Given the description of an element on the screen output the (x, y) to click on. 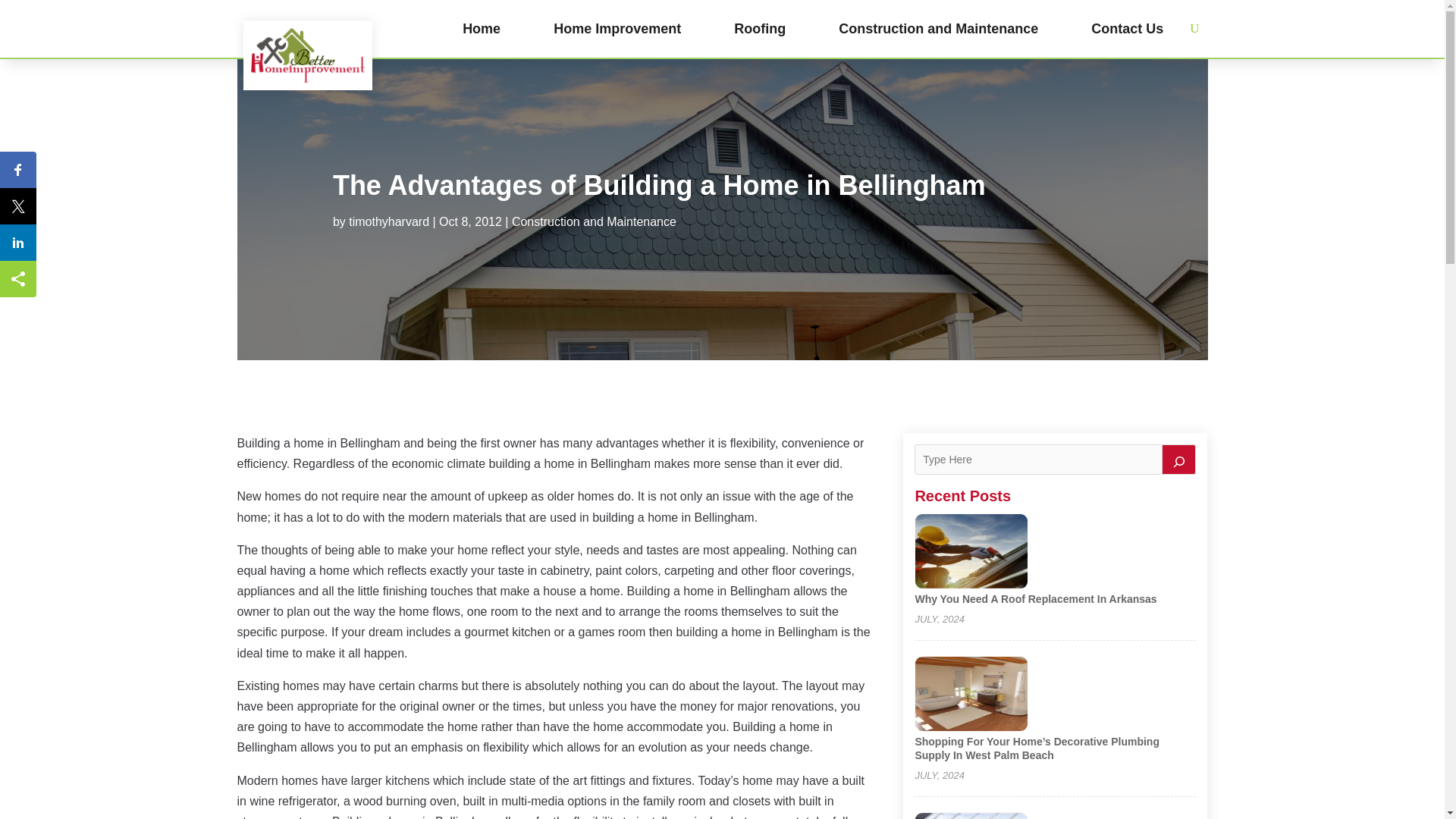
Why You Need A Roof Replacement In Arkansas (1035, 598)
Construction and Maintenance (938, 28)
Home Improvement (617, 28)
timothyharvard (389, 221)
Home (481, 28)
Posts by timothyharvard (389, 221)
Roofing (759, 28)
Construction and Maintenance (594, 221)
Contact Us (1126, 28)
